Given the description of an element on the screen output the (x, y) to click on. 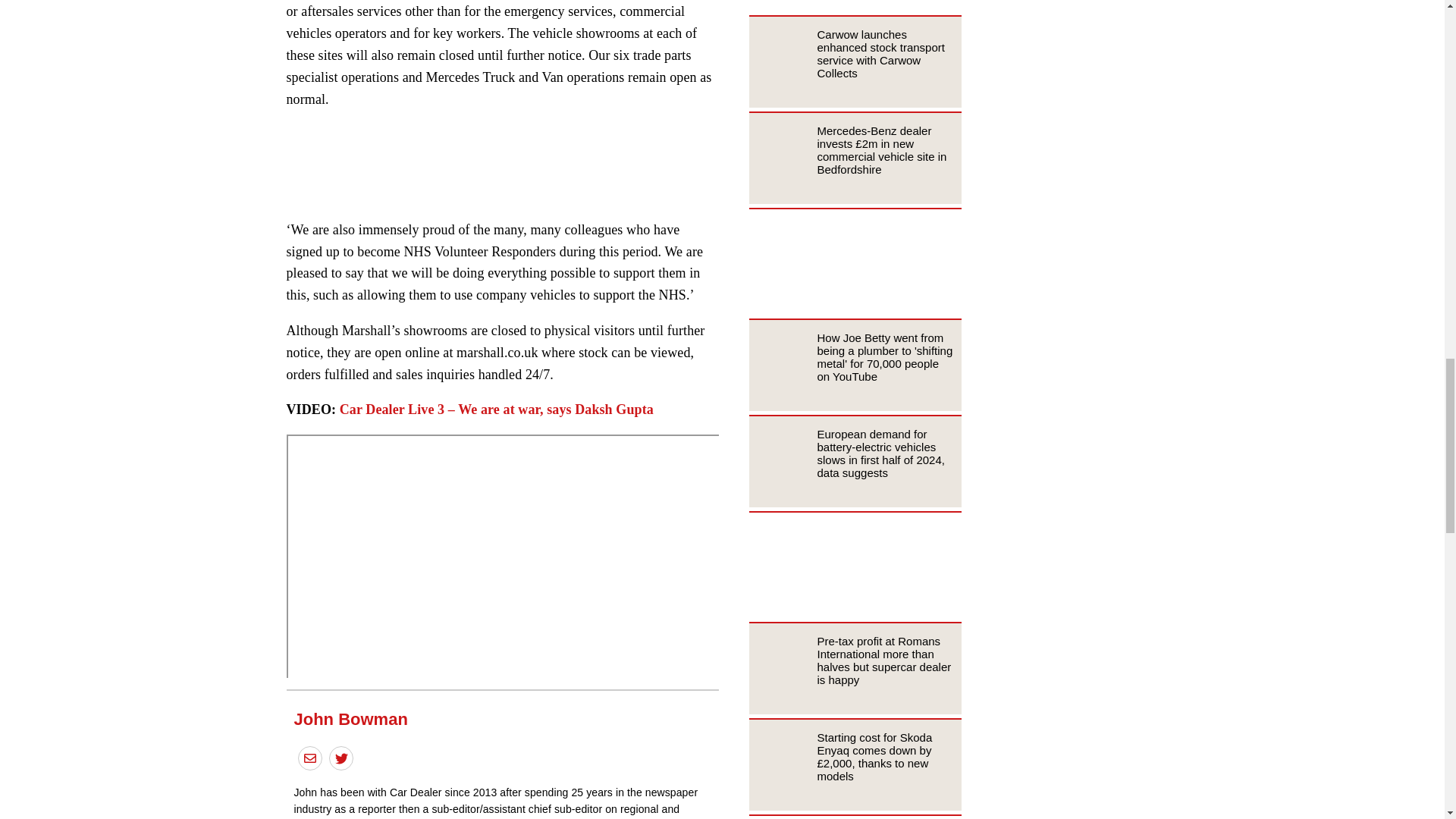
Posts by John Bowman (350, 719)
John Bowman (350, 719)
